Given the description of an element on the screen output the (x, y) to click on. 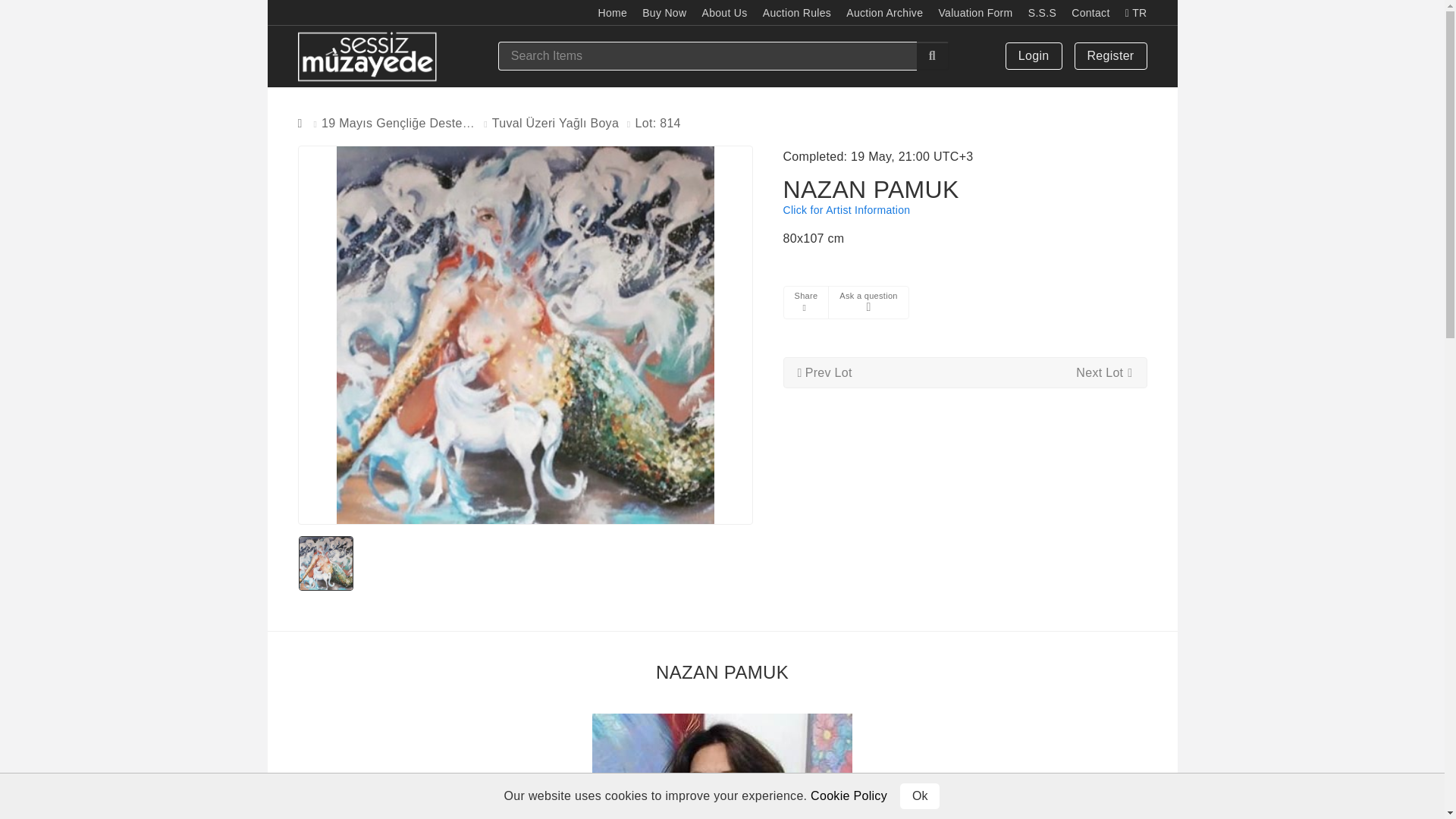
S.S.S (1042, 12)
Auction Archive (884, 12)
TR (1136, 12)
Ask a question (867, 302)
Home (611, 12)
Lot: 814 (657, 123)
Ok (919, 795)
Share (805, 302)
Next Lot (1104, 372)
Login (1033, 56)
